Given the description of an element on the screen output the (x, y) to click on. 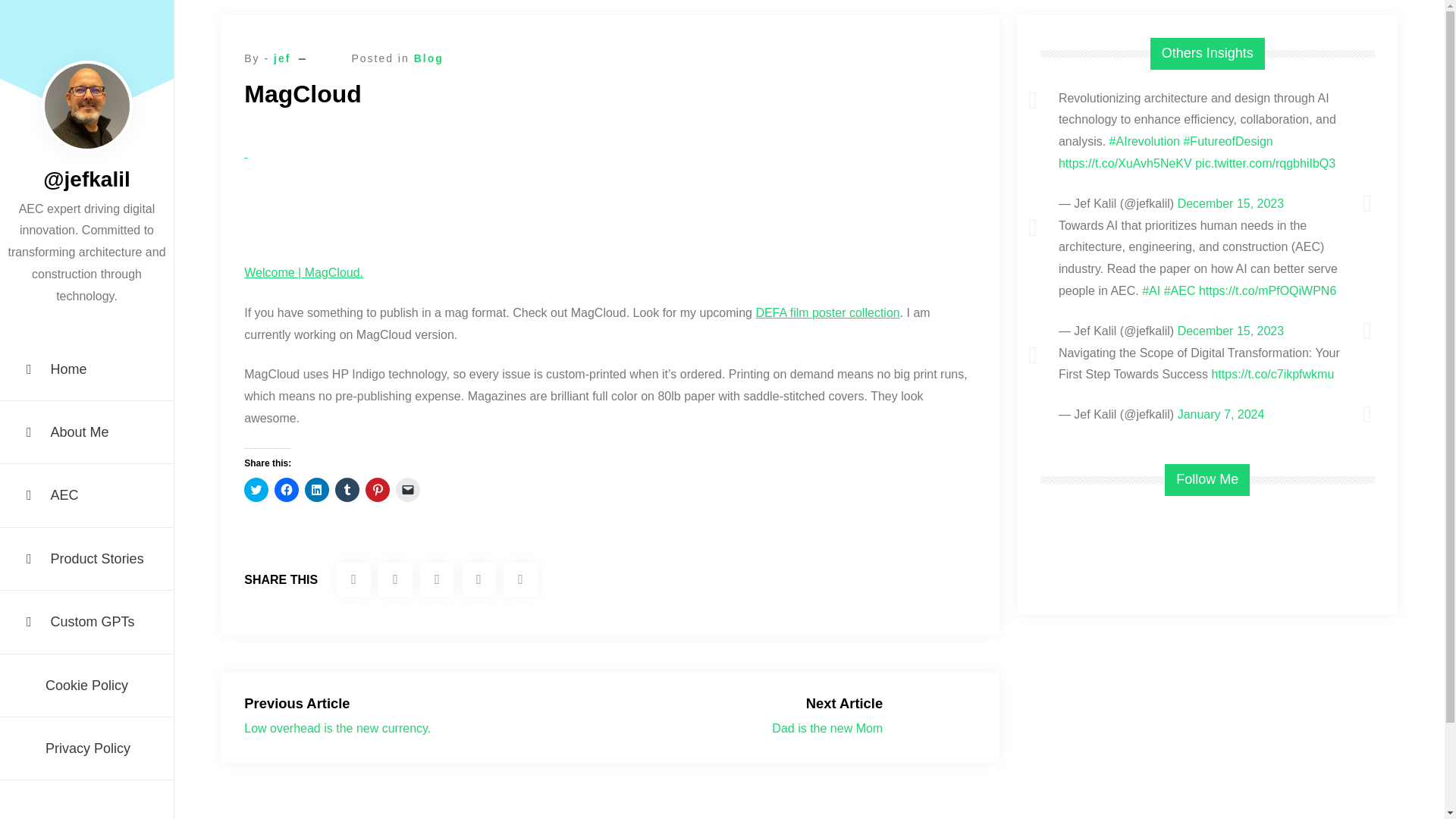
About Me (86, 432)
Click to share on Facebook (286, 489)
Home (86, 369)
AEC (86, 495)
Click to share on Pinterest (377, 489)
Share on LinkedIn (478, 579)
Product Stories (86, 558)
Click to share on Twitter (255, 489)
Share on Twitter (353, 579)
